Given the description of an element on the screen output the (x, y) to click on. 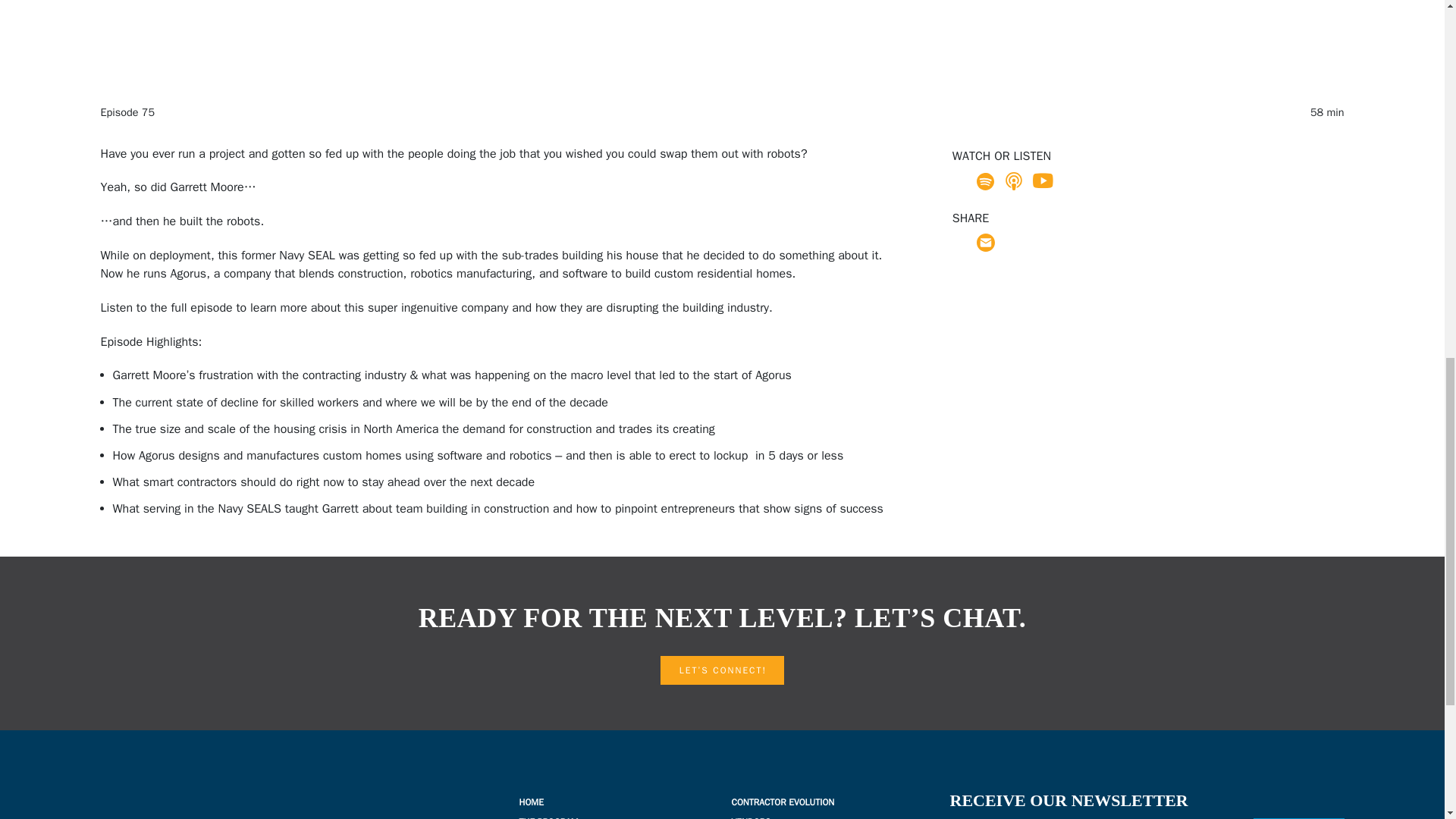
Email (985, 242)
HOME (530, 802)
youtube (1042, 180)
apple (1013, 180)
spotify (985, 180)
THE PROGRAM (548, 817)
